Given the description of an element on the screen output the (x, y) to click on. 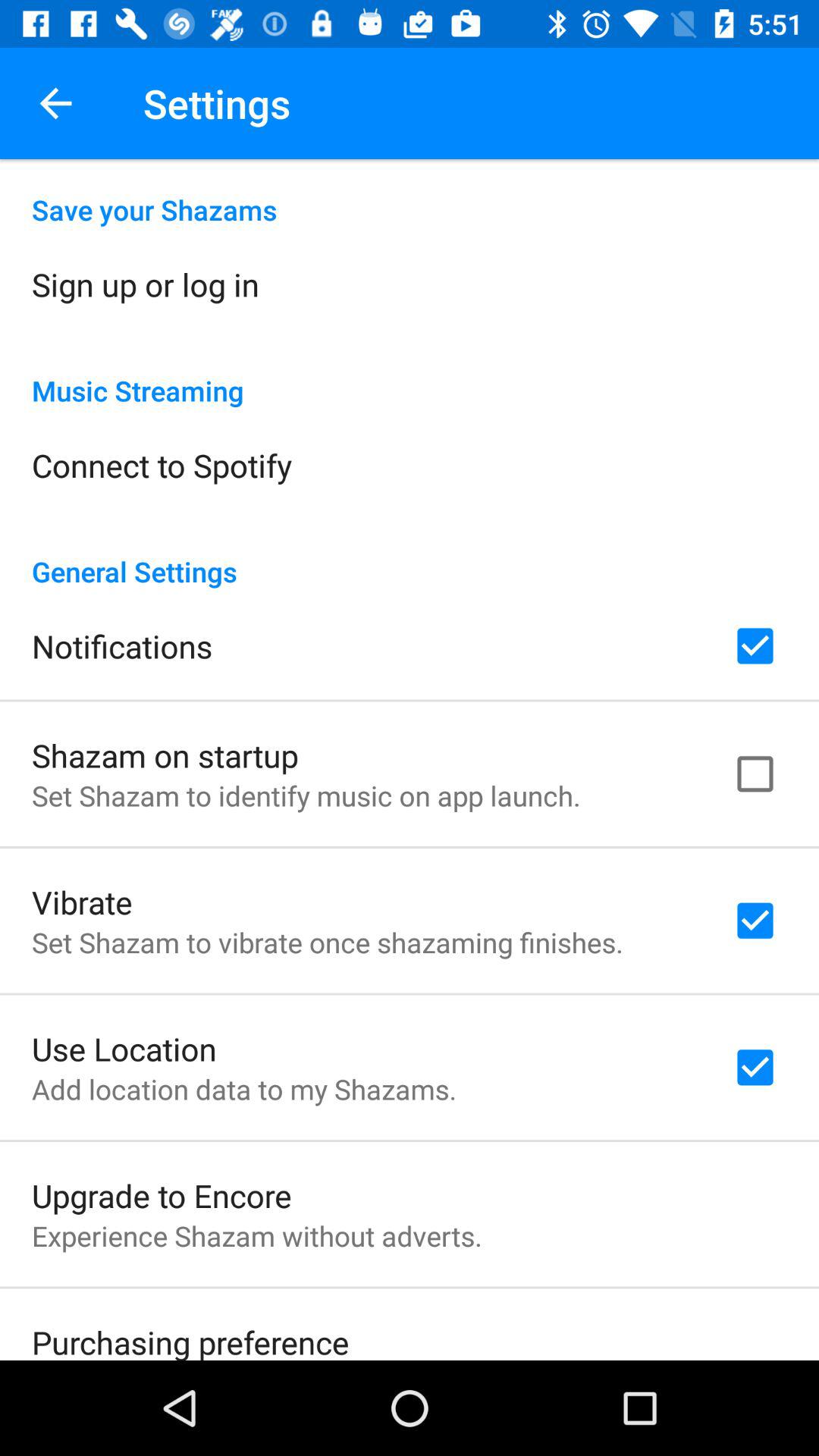
select the icon above shazam on startup icon (121, 645)
